Given the description of an element on the screen output the (x, y) to click on. 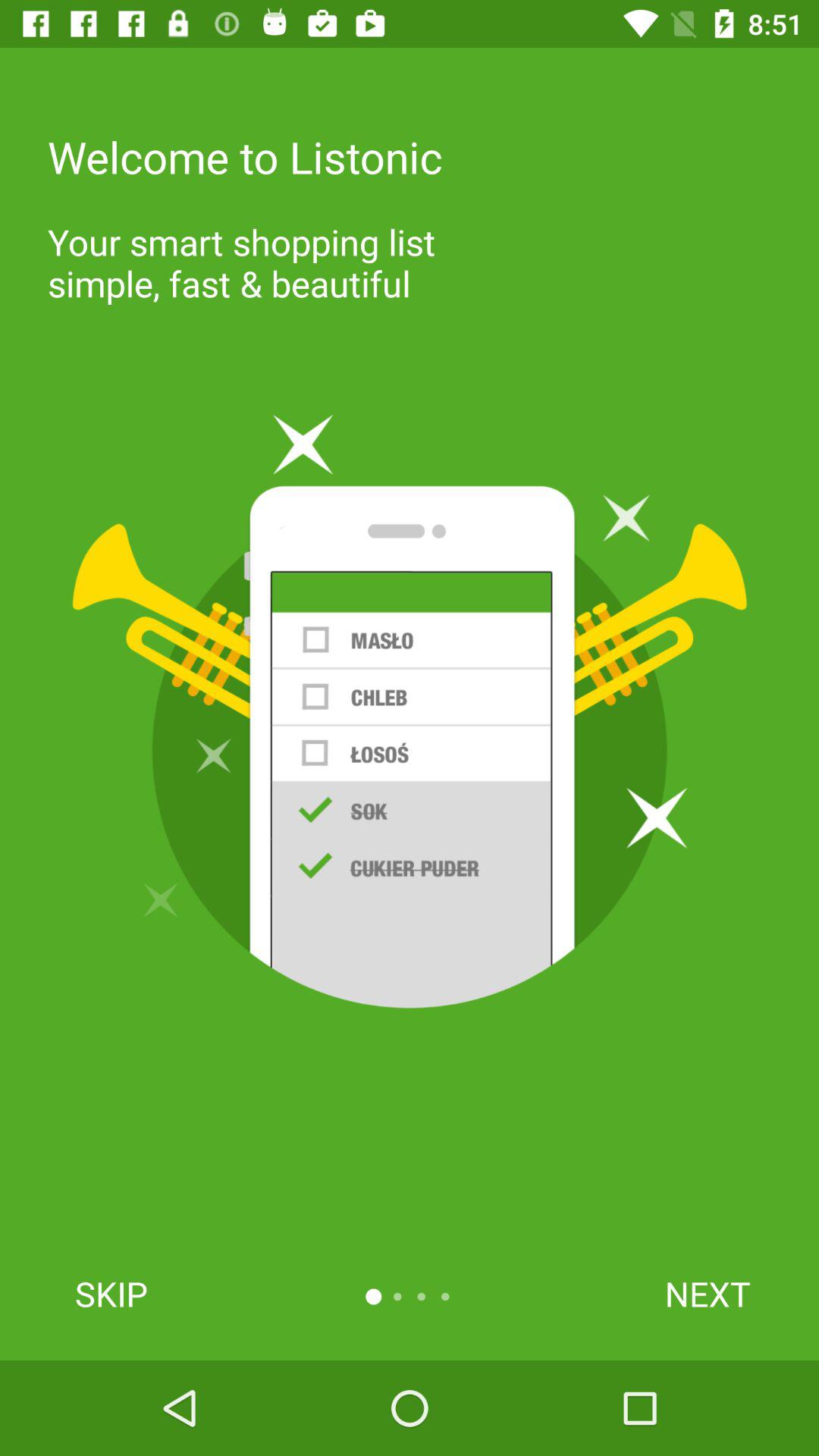
click next icon (707, 1293)
